Given the description of an element on the screen output the (x, y) to click on. 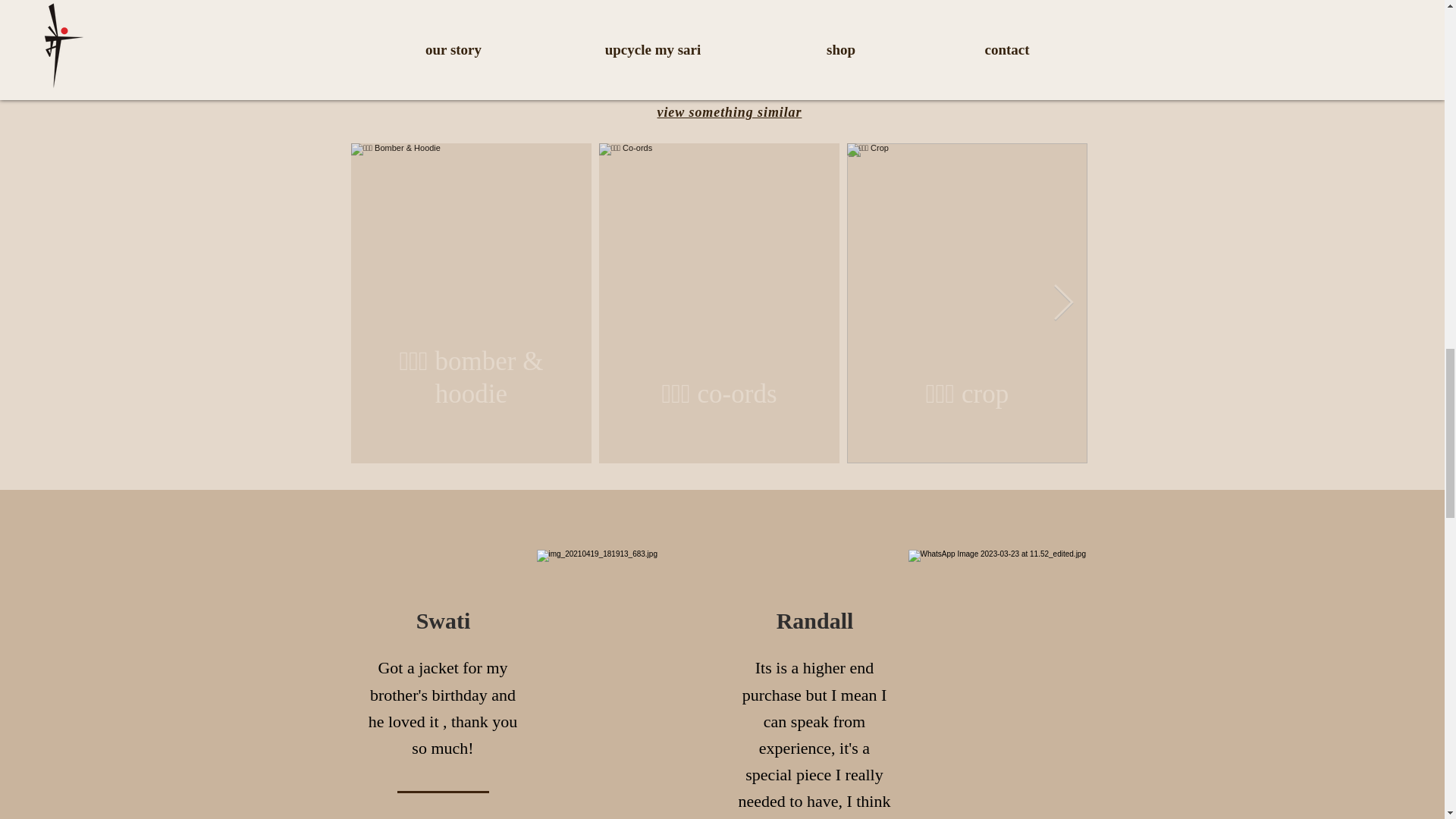
view something similar (730, 111)
shop our handcrafted unique pieces (729, 57)
